Given the description of an element on the screen output the (x, y) to click on. 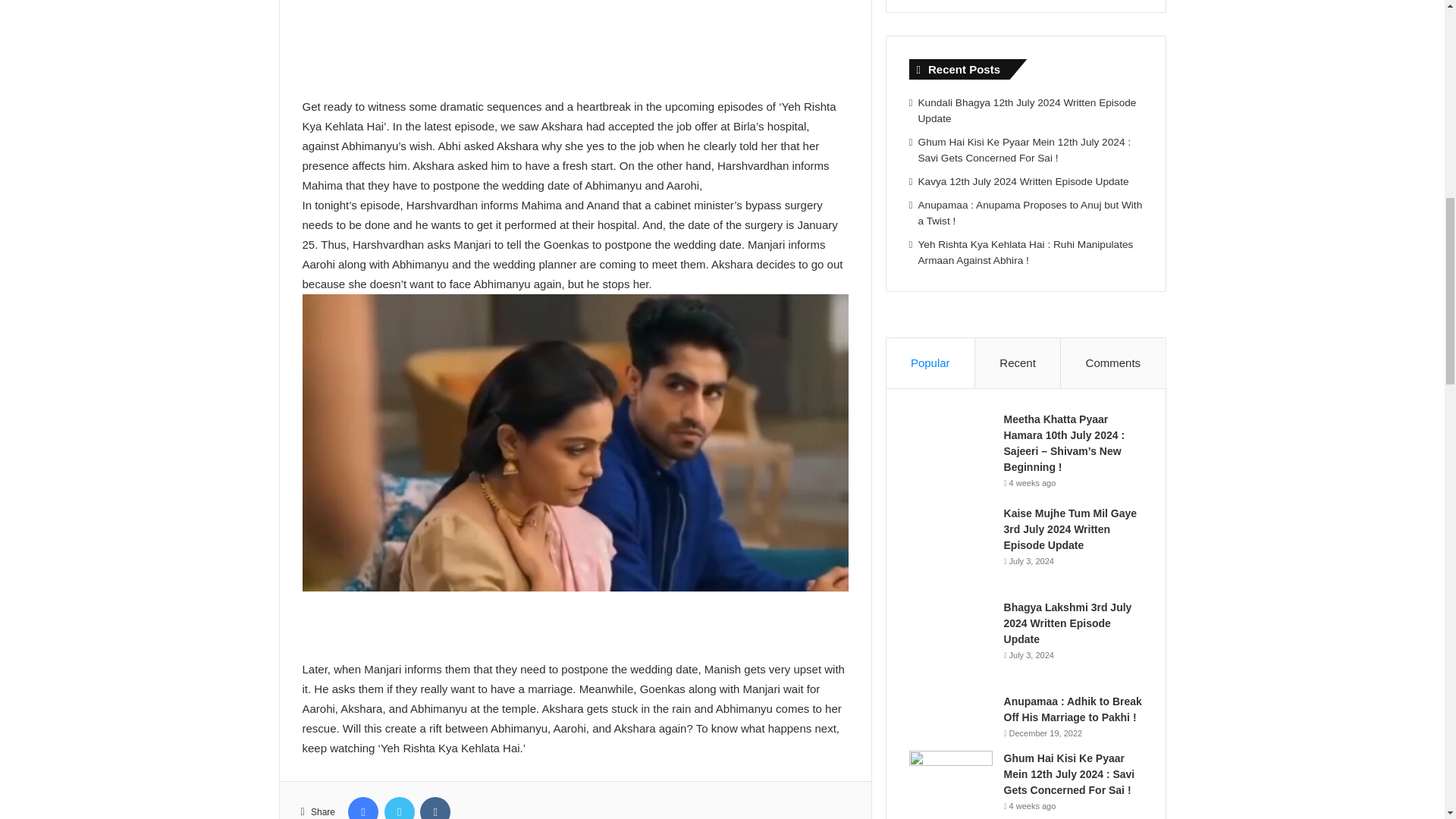
Facebook (362, 807)
Twitter (399, 807)
VKontakte (434, 807)
Advertisement (574, 37)
